Given the description of an element on the screen output the (x, y) to click on. 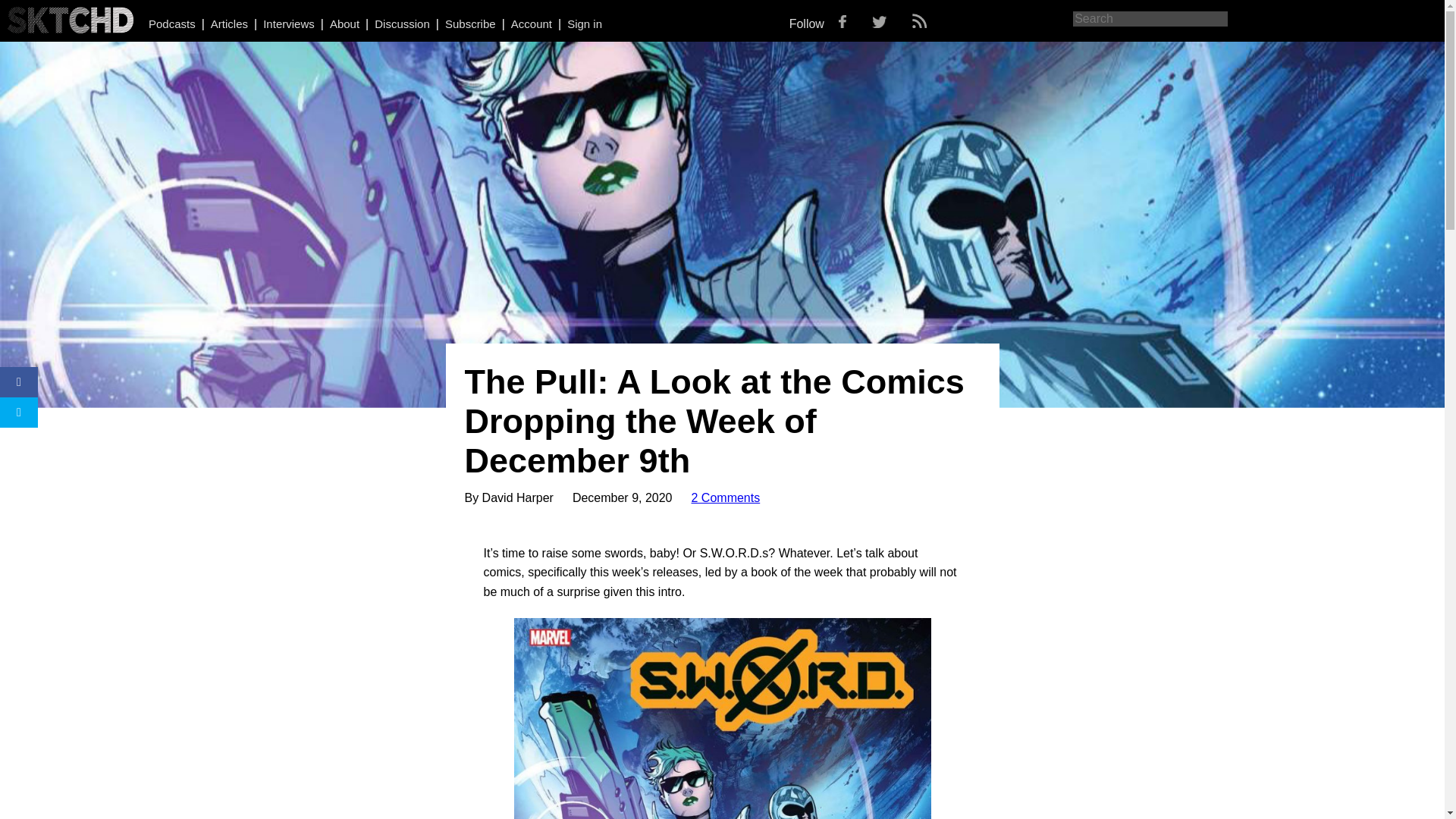
Podcasts (171, 23)
Subscribe (470, 23)
About (344, 23)
Sign in (584, 23)
Articles (229, 23)
Discussion (401, 23)
2 Comments (725, 497)
Interviews (288, 23)
Account (531, 23)
